Given the description of an element on the screen output the (x, y) to click on. 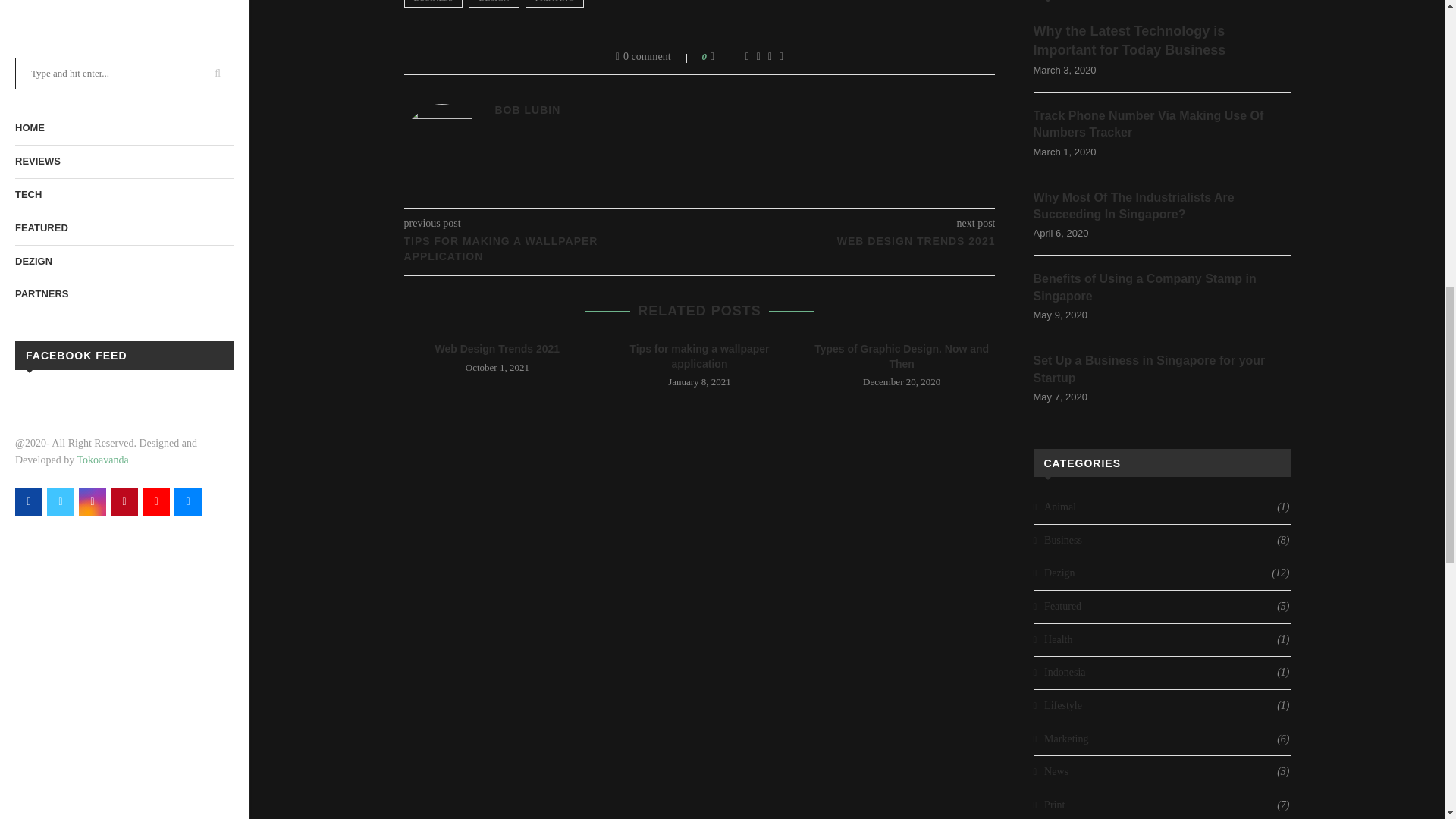
TIPS FOR MAKING A WALLPAPER APPLICATION (550, 248)
DESIGN (493, 3)
Why Most Of The Industrialists Are Succeeding In Singapore? (1161, 206)
Track Phone Number Via Making Use Of Numbers Tracker (1161, 124)
Like (722, 56)
Posts by Bob Lubin (527, 110)
Web Design Trends 2021 (496, 348)
BUSINESS (433, 3)
Set Up a Business in Singapore for your Startup (1161, 369)
Benefits of Using a Company Stamp in Singapore (1161, 287)
Types of Graphic Design. Now and Then (900, 356)
BOB LUBIN (527, 110)
Why the Latest Technology is Important for Today Business (1161, 39)
Tips for making a wallpaper application (698, 356)
PRINTING (554, 3)
